Given the description of an element on the screen output the (x, y) to click on. 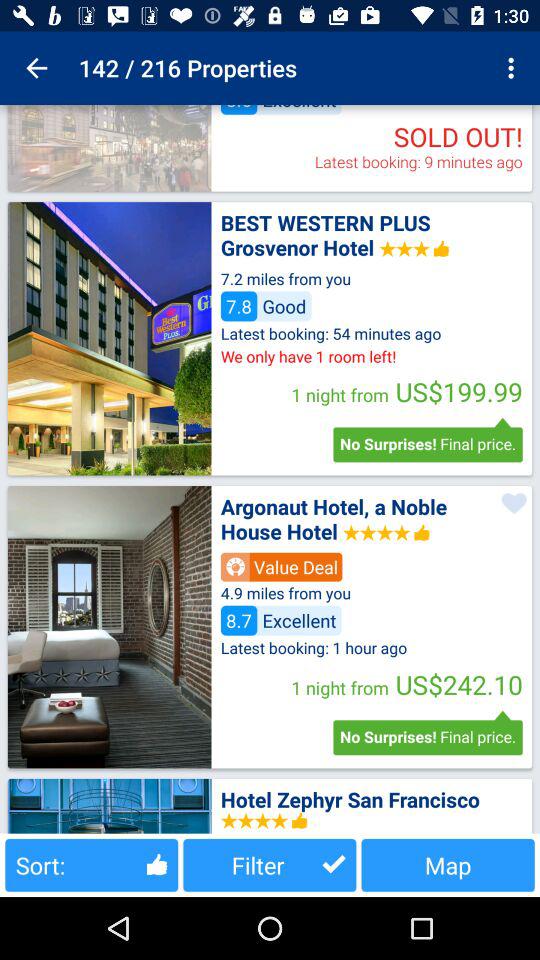
choose the button next to filter button (91, 864)
